Given the description of an element on the screen output the (x, y) to click on. 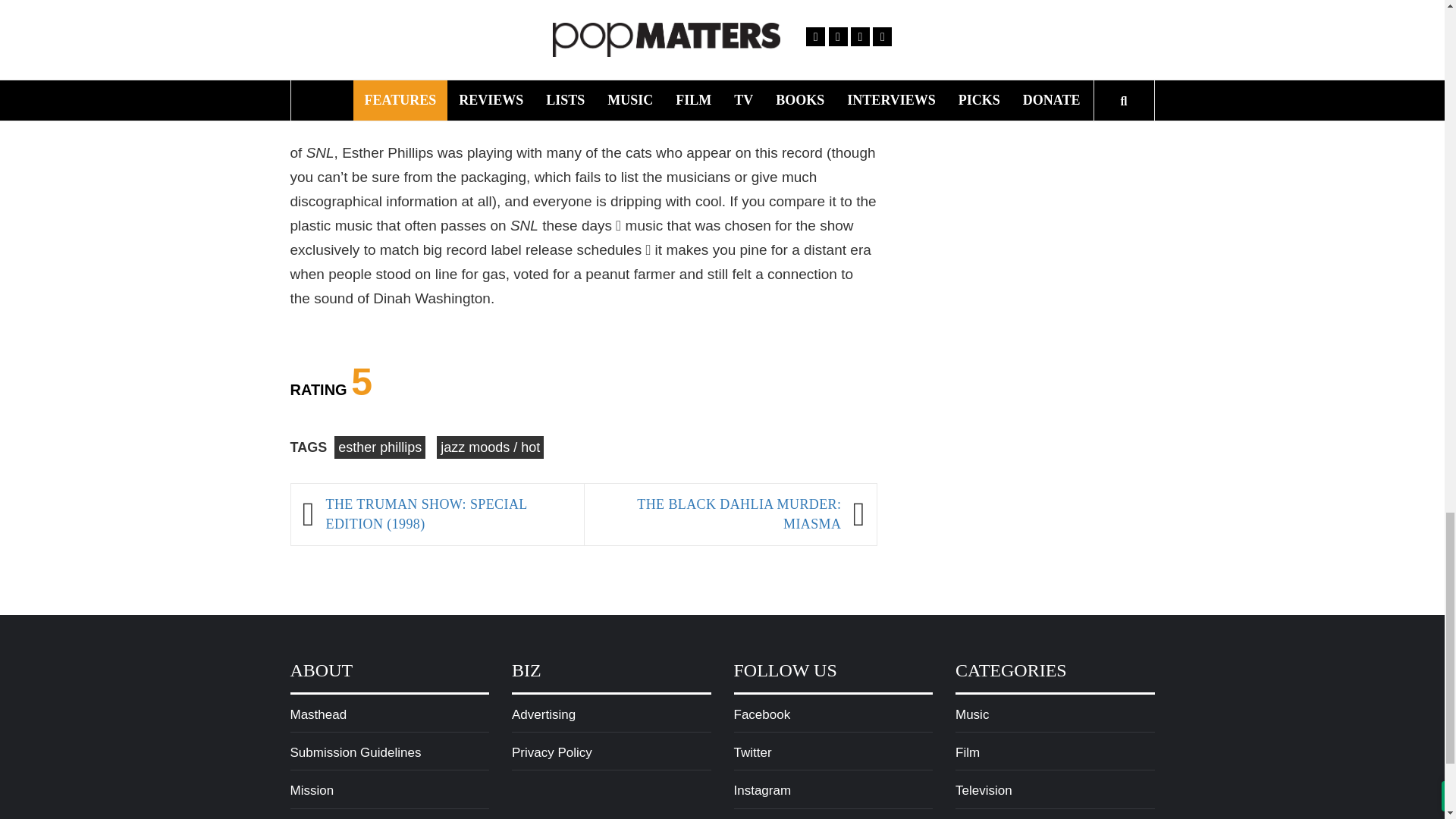
esther phillips (379, 446)
THE BLACK DAHLIA MURDER: MIASMA (718, 514)
